Given the description of an element on the screen output the (x, y) to click on. 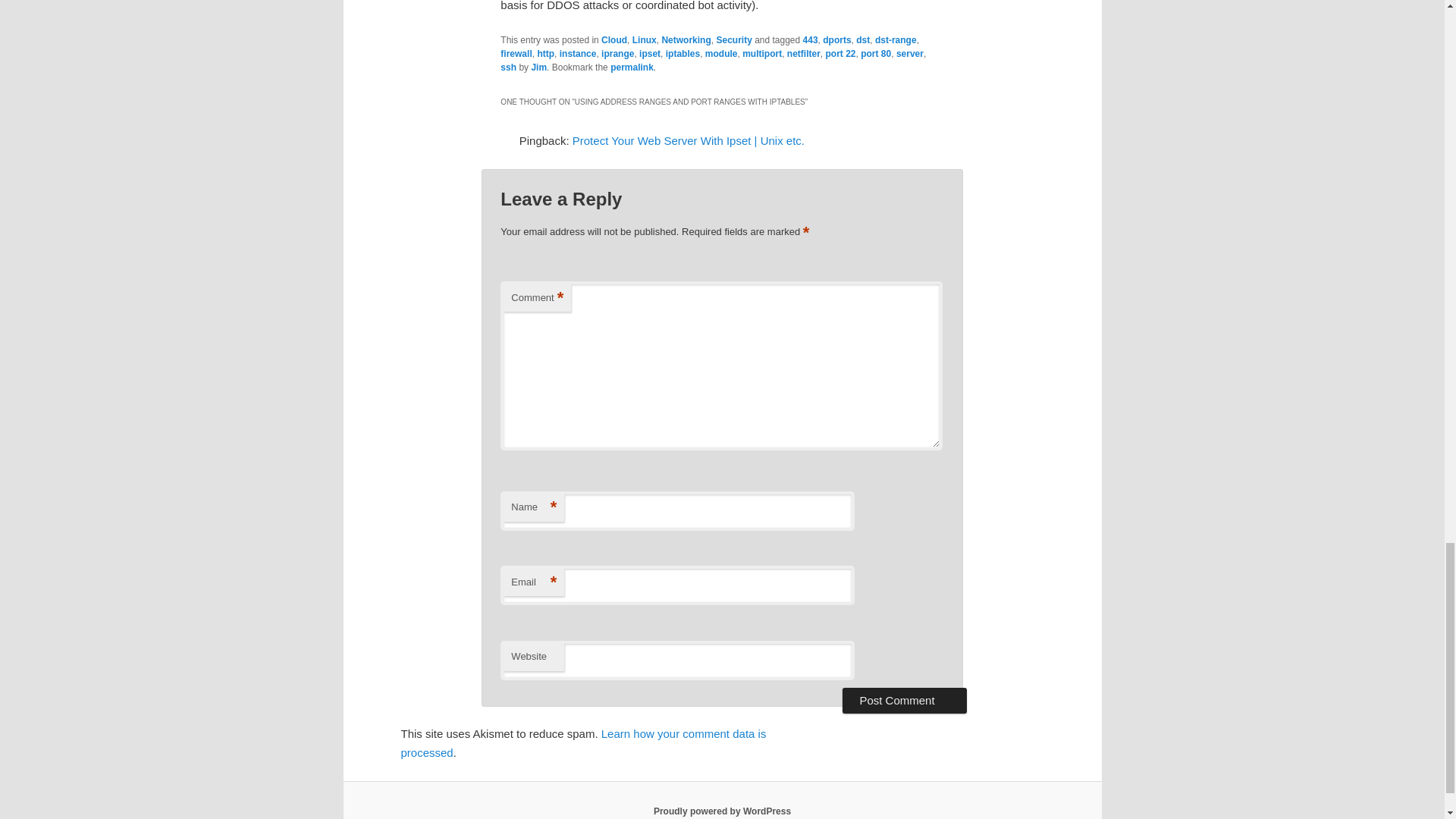
Post Comment (904, 700)
server (909, 53)
dst-range (896, 40)
dst (862, 40)
port 80 (875, 53)
firewall (515, 53)
Post Comment (904, 700)
Cloud (614, 40)
Jim (539, 67)
